Given the description of an element on the screen output the (x, y) to click on. 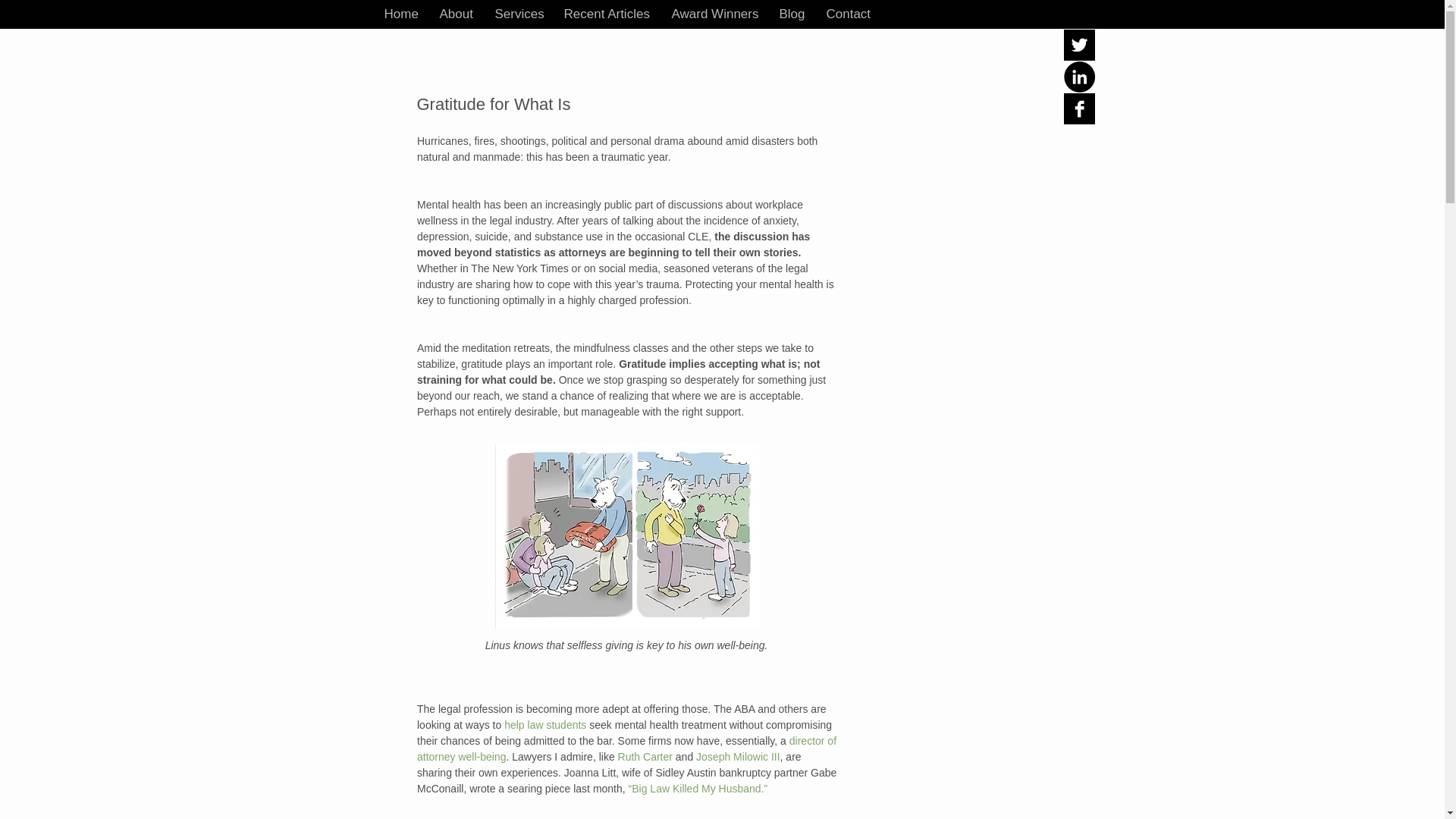
Award Winners (713, 13)
Joseph Milowic III (736, 756)
About (455, 13)
Recent Articles (605, 13)
Ruth Carter (644, 756)
Services (518, 13)
director of attorney well-being (628, 748)
Home (400, 13)
Blog (790, 13)
help law students (544, 725)
